Given the description of an element on the screen output the (x, y) to click on. 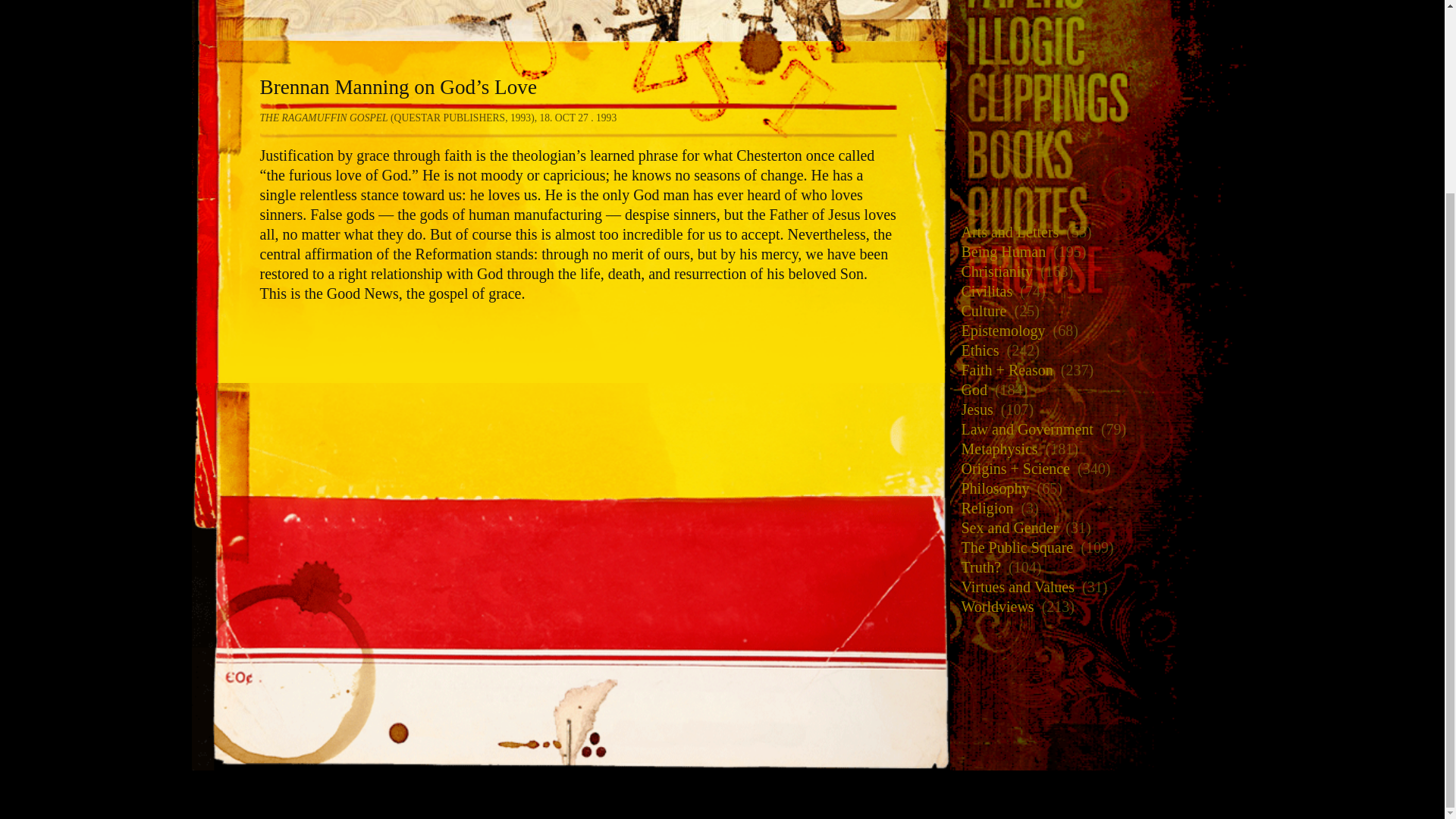
Virtues and Values (1013, 585)
Worldviews (992, 605)
Being Human (999, 250)
Quotes (569, 20)
Metaphysics (995, 447)
Clippings (1100, 34)
Books and Bibliography (1100, 91)
Jesus (972, 408)
Illogic Primer (1100, 2)
Christianity (992, 270)
Arts and Letters (1005, 230)
Law and Government (1022, 427)
God (969, 388)
Quotes (1100, 147)
Religion (982, 506)
